Given the description of an element on the screen output the (x, y) to click on. 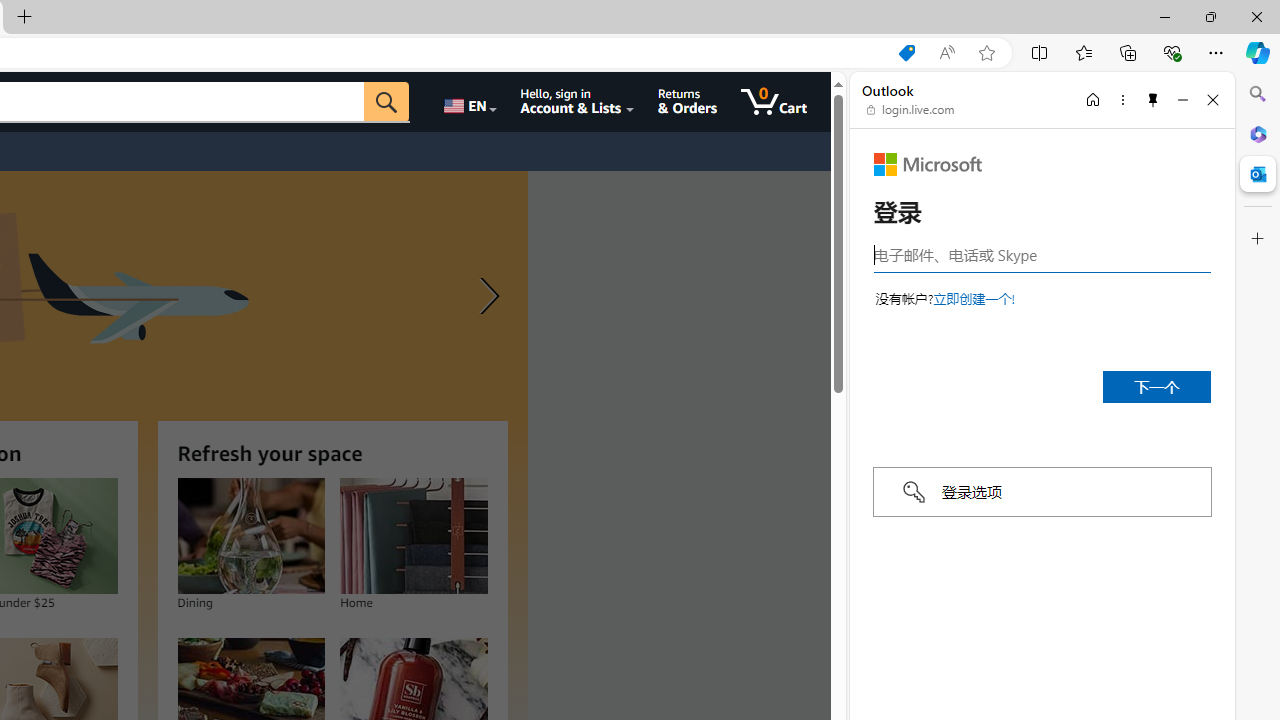
Hello, sign in Account & Lists (576, 101)
Choose a language for shopping. (468, 101)
Microsoft (927, 164)
Next slide (484, 296)
Dining (250, 536)
Dining (250, 536)
